Given the description of an element on the screen output the (x, y) to click on. 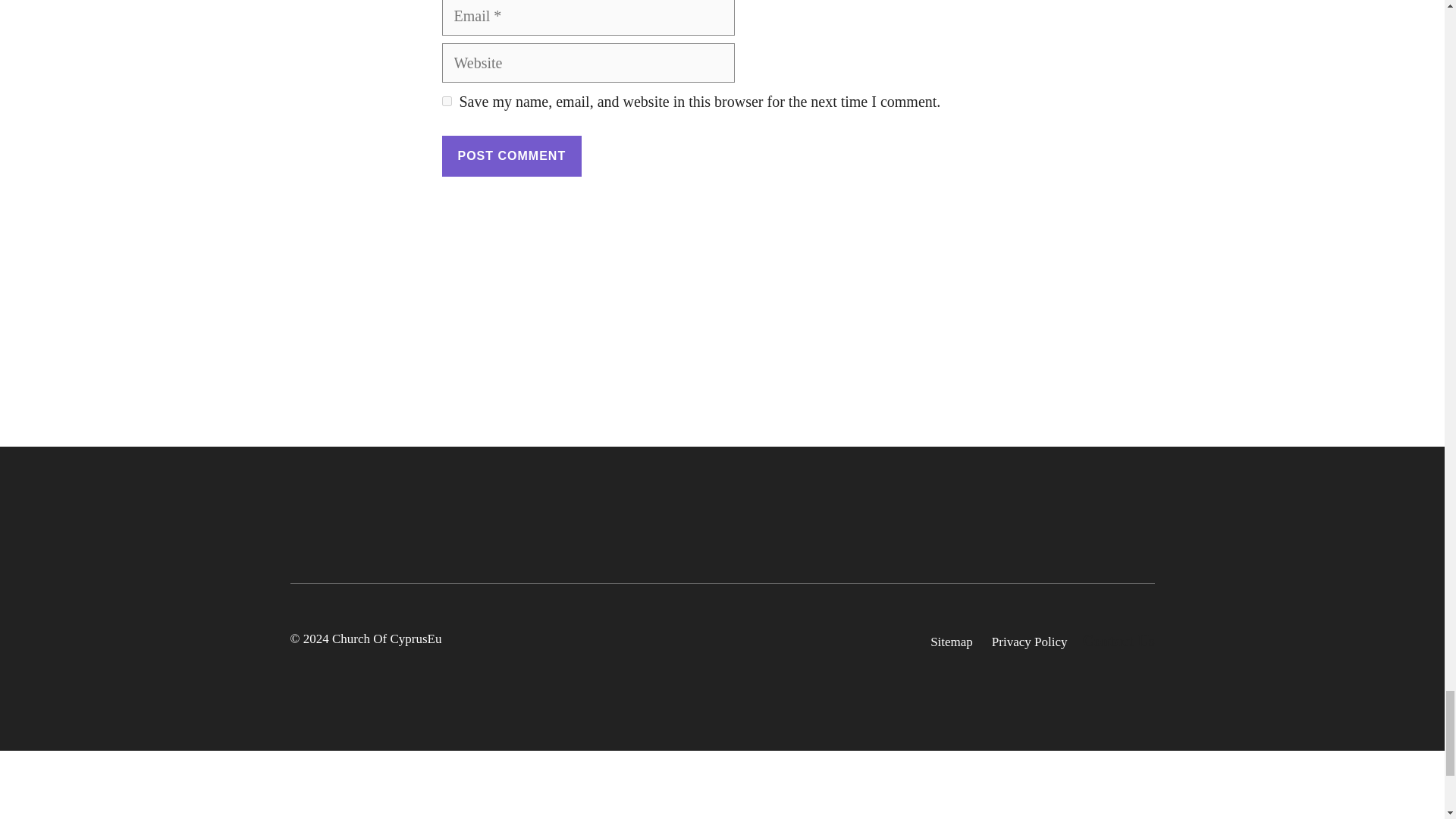
Post Comment (510, 155)
yes (446, 101)
